Given the description of an element on the screen output the (x, y) to click on. 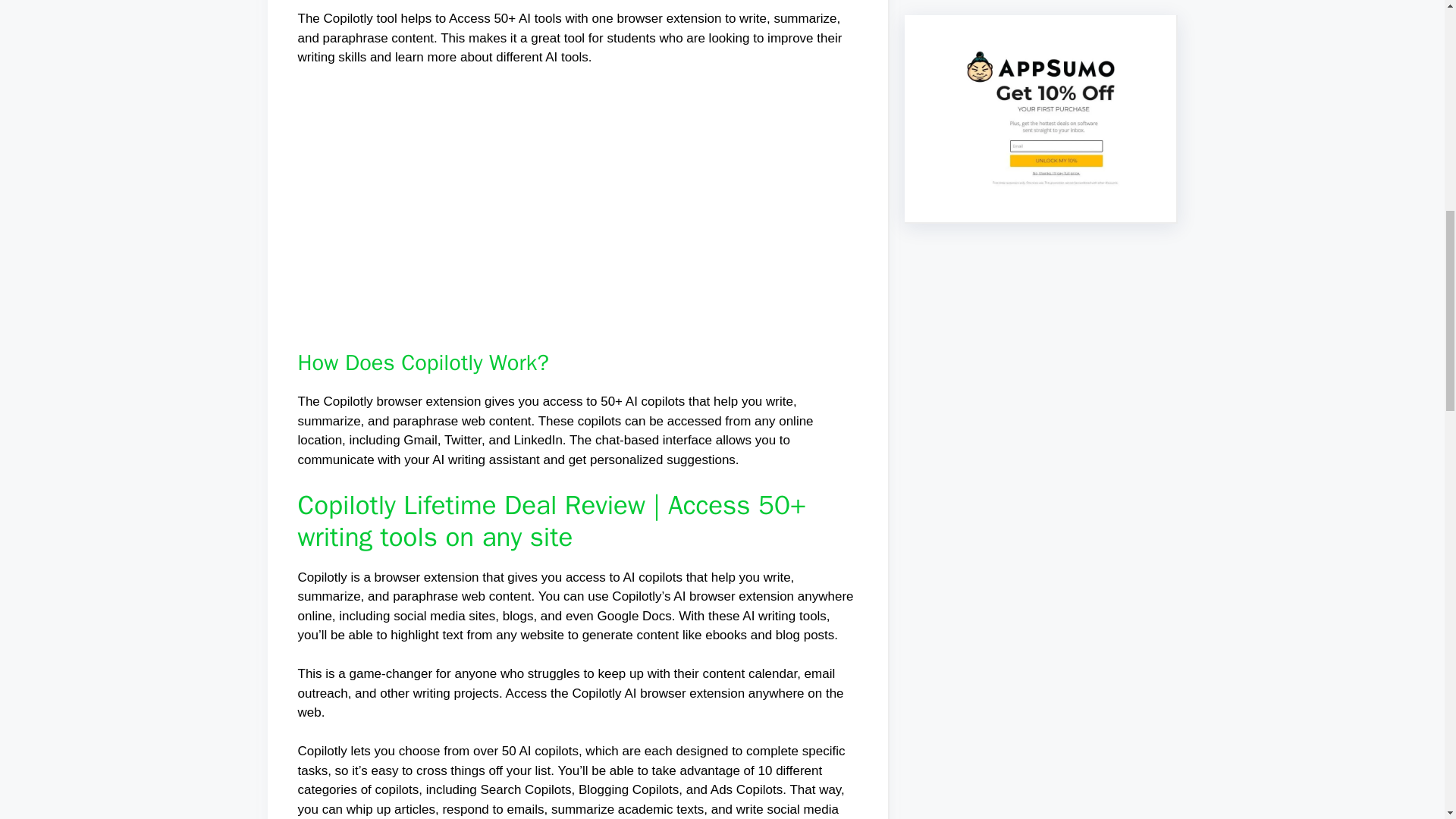
YouTube video player (509, 205)
Scroll back to top (1406, 720)
